Given the description of an element on the screen output the (x, y) to click on. 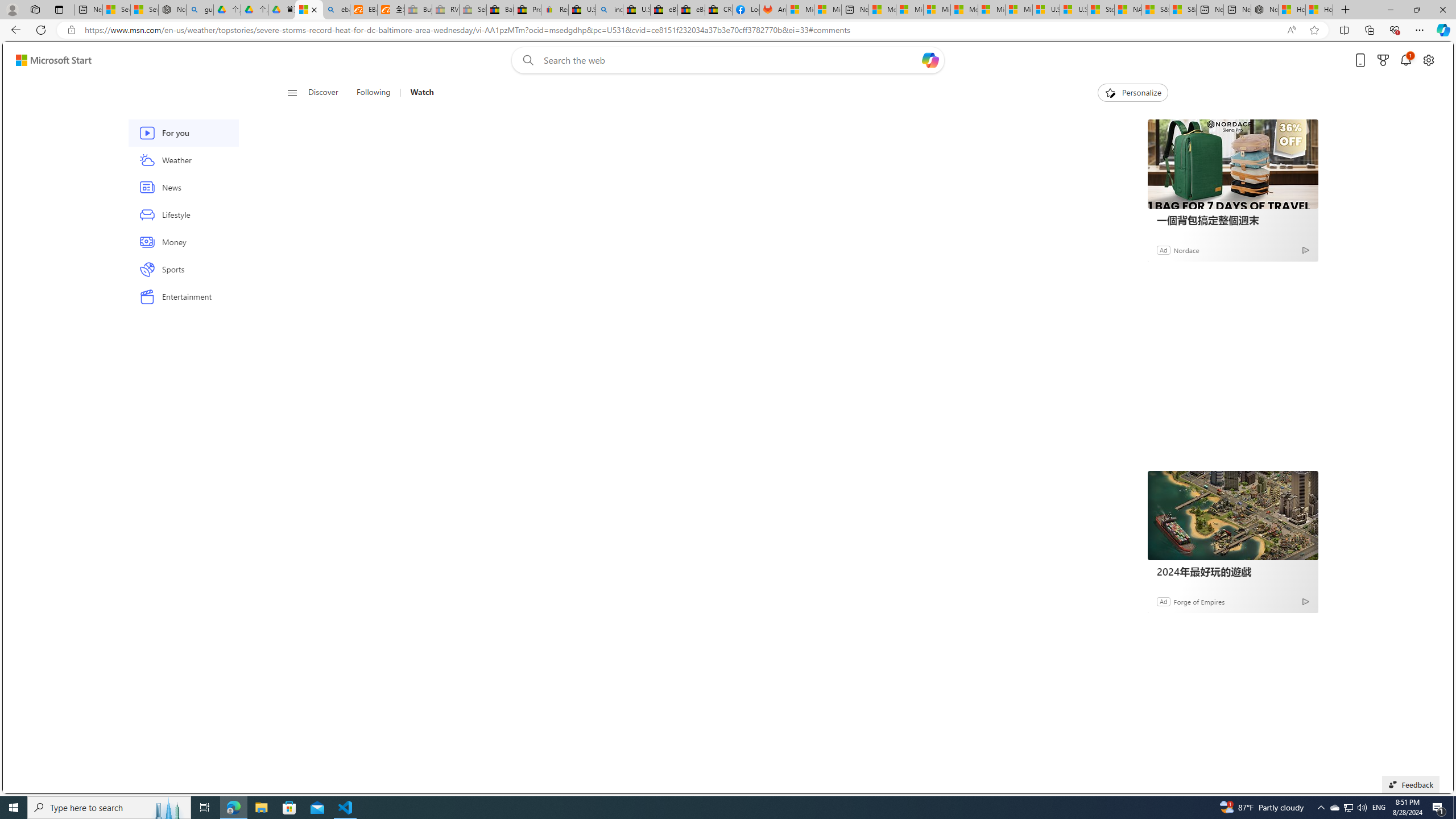
Register: Create a personal eBay account (554, 9)
To get missing image descriptions, open the context menu. (1109, 92)
S&P 500, Nasdaq end lower, weighed by Nvidia dip | Watch (1182, 9)
Microsoft account | Privacy (909, 9)
eBay Inc. Reports Third Quarter 2023 Results (691, 9)
Press Room - eBay Inc. (527, 9)
